Given the description of an element on the screen output the (x, y) to click on. 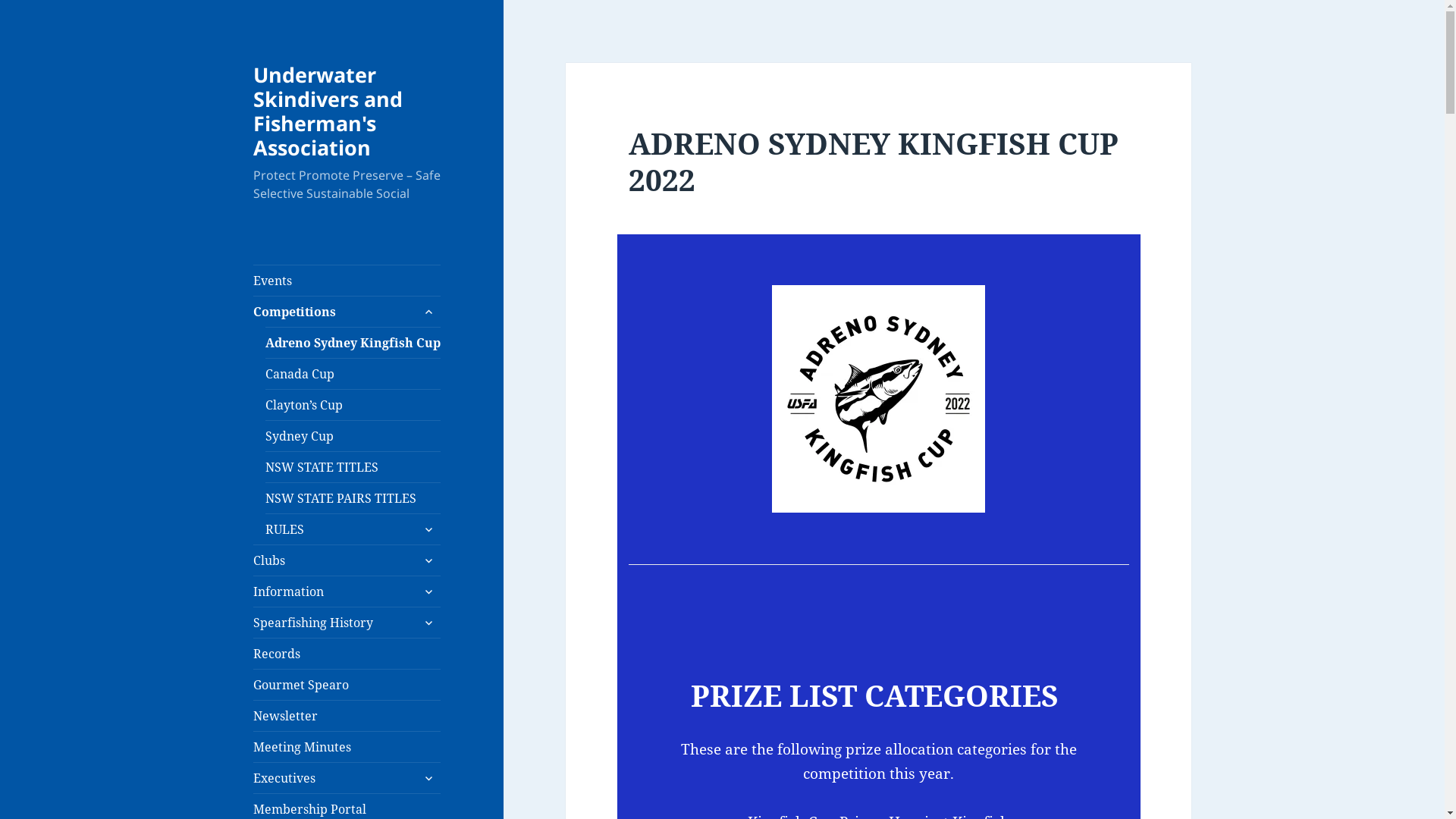
RULES Element type: text (353, 529)
Clubs Element type: text (347, 560)
NSW STATE PAIRS TITLES Element type: text (353, 498)
Newsletter Element type: text (347, 715)
Underwater Skindivers and Fisherman's Association Element type: text (327, 110)
Spearfishing History Element type: text (347, 622)
Executives Element type: text (347, 777)
expand child menu Element type: text (428, 560)
expand child menu Element type: text (428, 311)
Events Element type: text (347, 280)
Information Element type: text (347, 591)
Gourmet Spearo Element type: text (347, 684)
expand child menu Element type: text (428, 777)
expand child menu Element type: text (428, 622)
expand child menu Element type: text (428, 529)
Competitions Element type: text (347, 311)
expand child menu Element type: text (428, 591)
Meeting Minutes Element type: text (347, 746)
Records Element type: text (347, 653)
Adreno Sydney Kingfish Cup Element type: text (353, 342)
Mono-Open-White (2) Element type: hover (878, 398)
NSW STATE TITLES Element type: text (353, 466)
Sydney Cup Element type: text (353, 435)
Canada Cup Element type: text (353, 373)
